Given the description of an element on the screen output the (x, y) to click on. 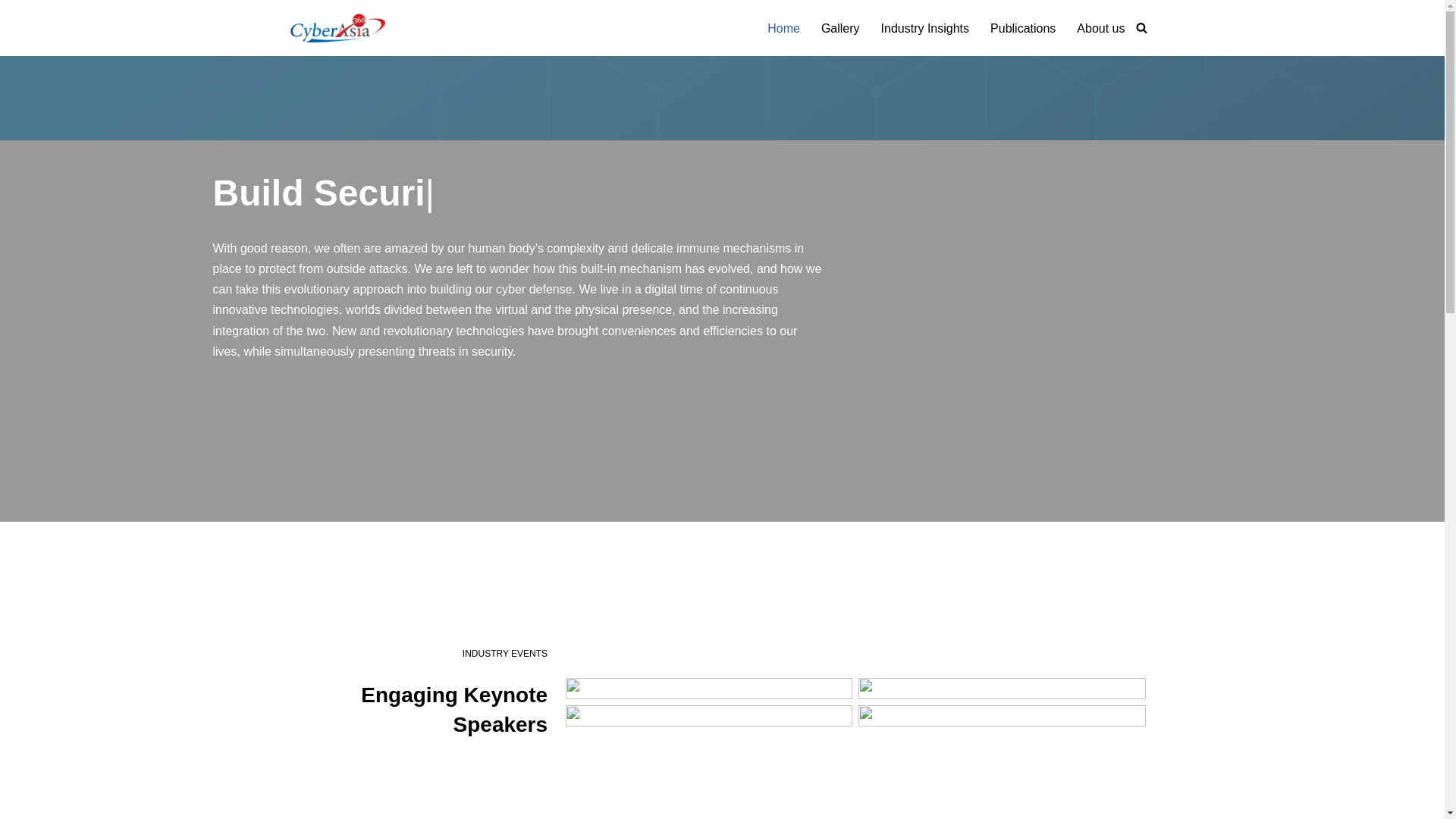
Home (783, 28)
About us (1100, 28)
Publications (1022, 28)
Industry Insights (924, 28)
Gallery (840, 28)
Skip to content (11, 31)
